Given the description of an element on the screen output the (x, y) to click on. 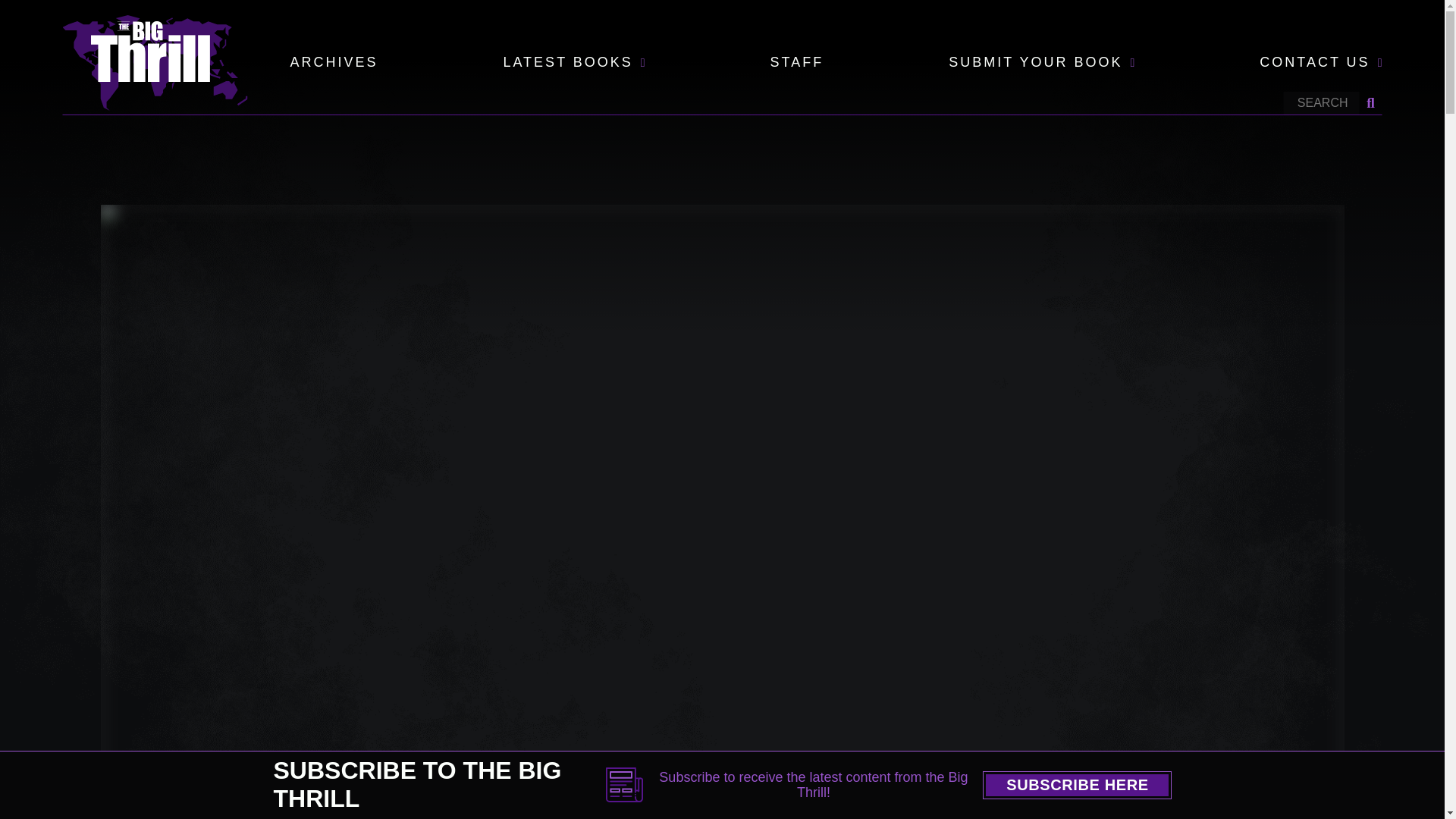
SUBMIT YOUR BOOK (1035, 62)
LATEST BOOKS (566, 62)
CONTACT US (1314, 62)
ARCHIVES (333, 62)
STAFF (797, 62)
